Given the description of an element on the screen output the (x, y) to click on. 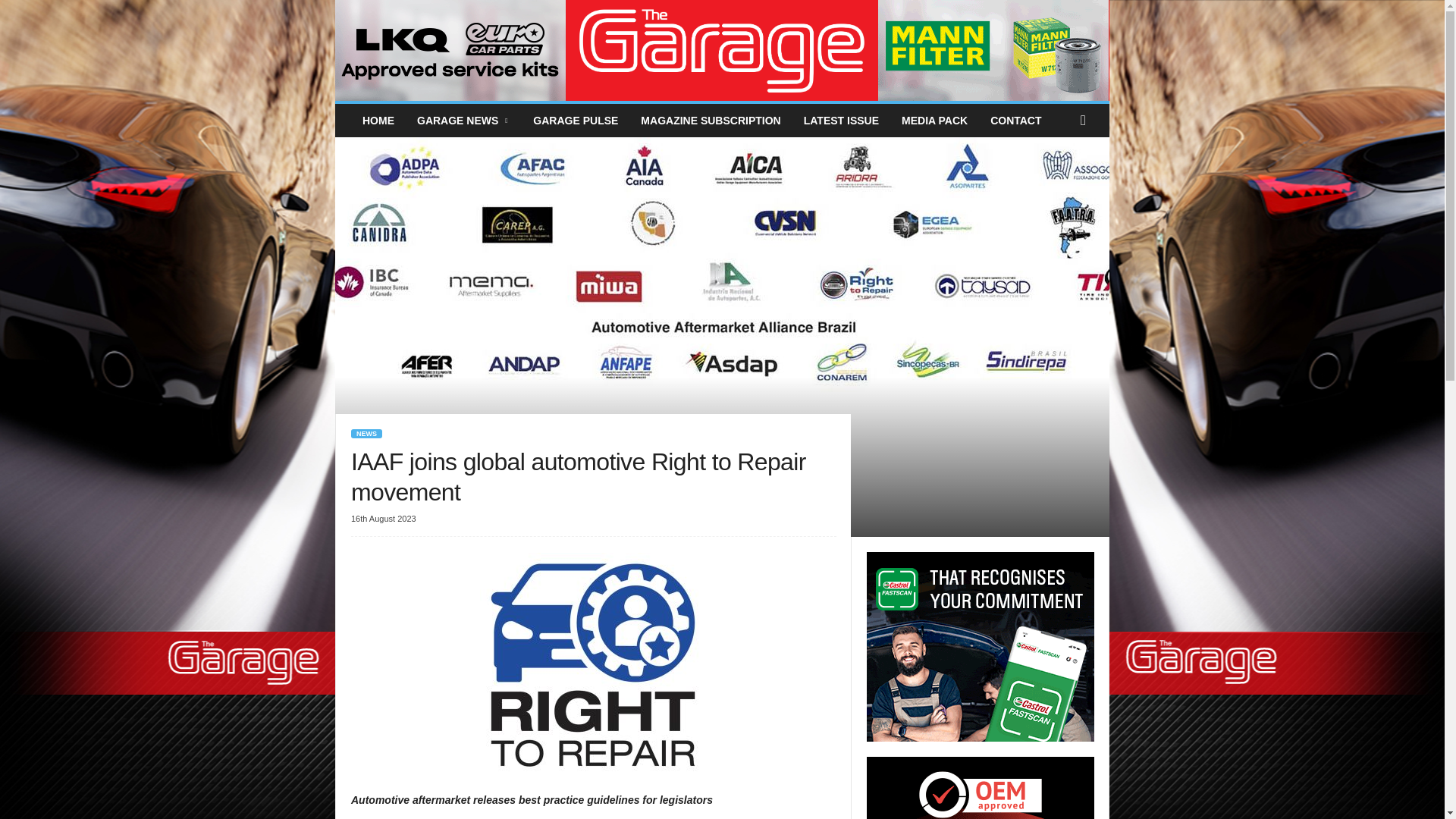
GARAGE NEWS (463, 120)
NEWS (365, 433)
MAGAZINE SUBSCRIPTION (710, 120)
CONTACT (1015, 120)
HOME (378, 120)
LATEST ISSUE (840, 120)
GARAGE PULSE (574, 120)
MEDIA PACK (933, 120)
